Given the description of an element on the screen output the (x, y) to click on. 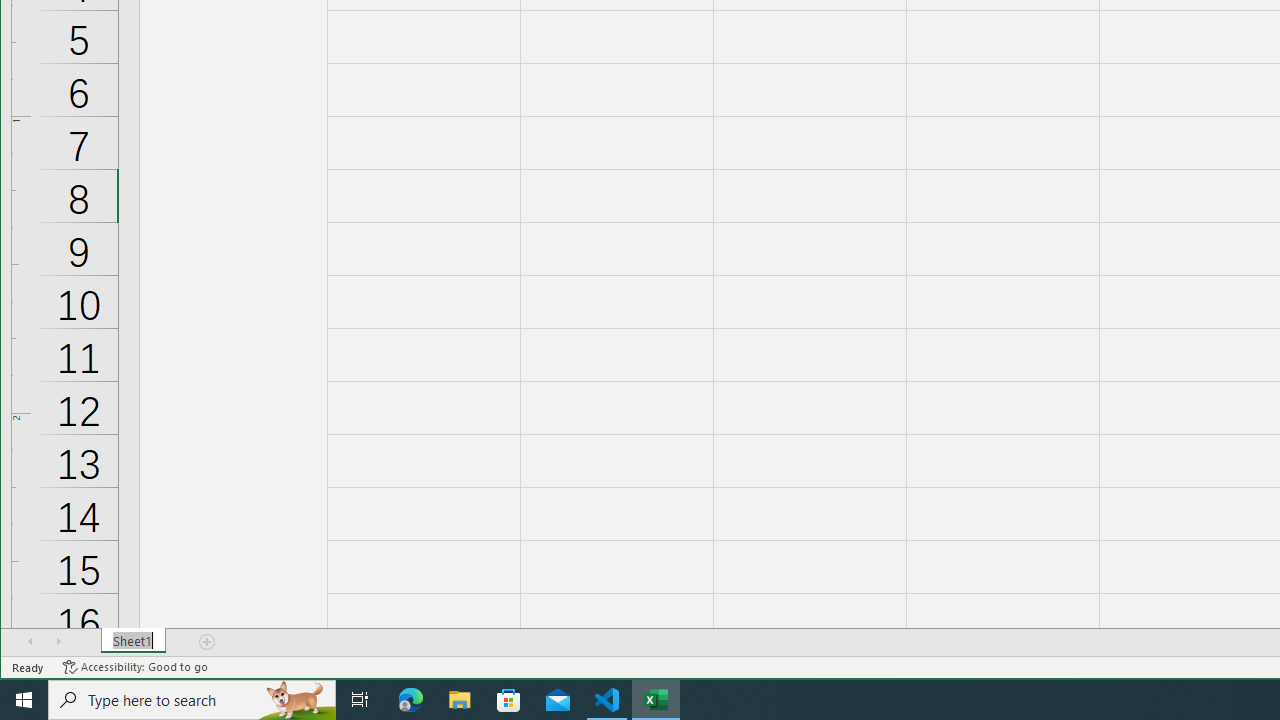
Sheet Tab (133, 641)
Visual Studio Code - 1 running window (607, 699)
Microsoft Edge (411, 699)
Type here to search (191, 699)
Search highlights icon opens search home window (295, 699)
Task View (359, 699)
File Explorer (460, 699)
Microsoft Store (509, 699)
Excel - 1 running window (656, 699)
